Given the description of an element on the screen output the (x, y) to click on. 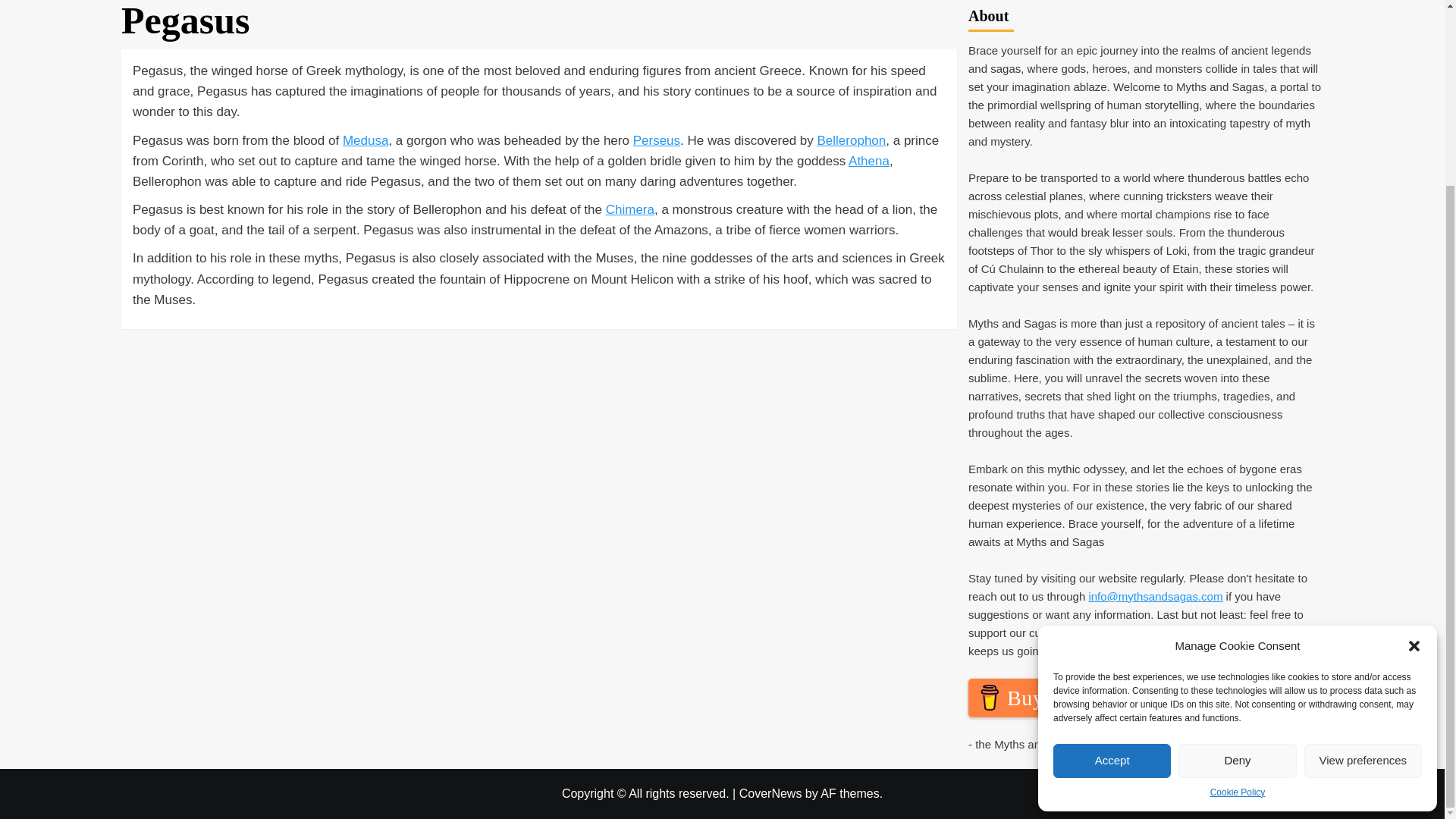
Deny (1236, 530)
Cookie Policy (1237, 563)
Accept (1111, 530)
View preferences (1363, 530)
